Given the description of an element on the screen output the (x, y) to click on. 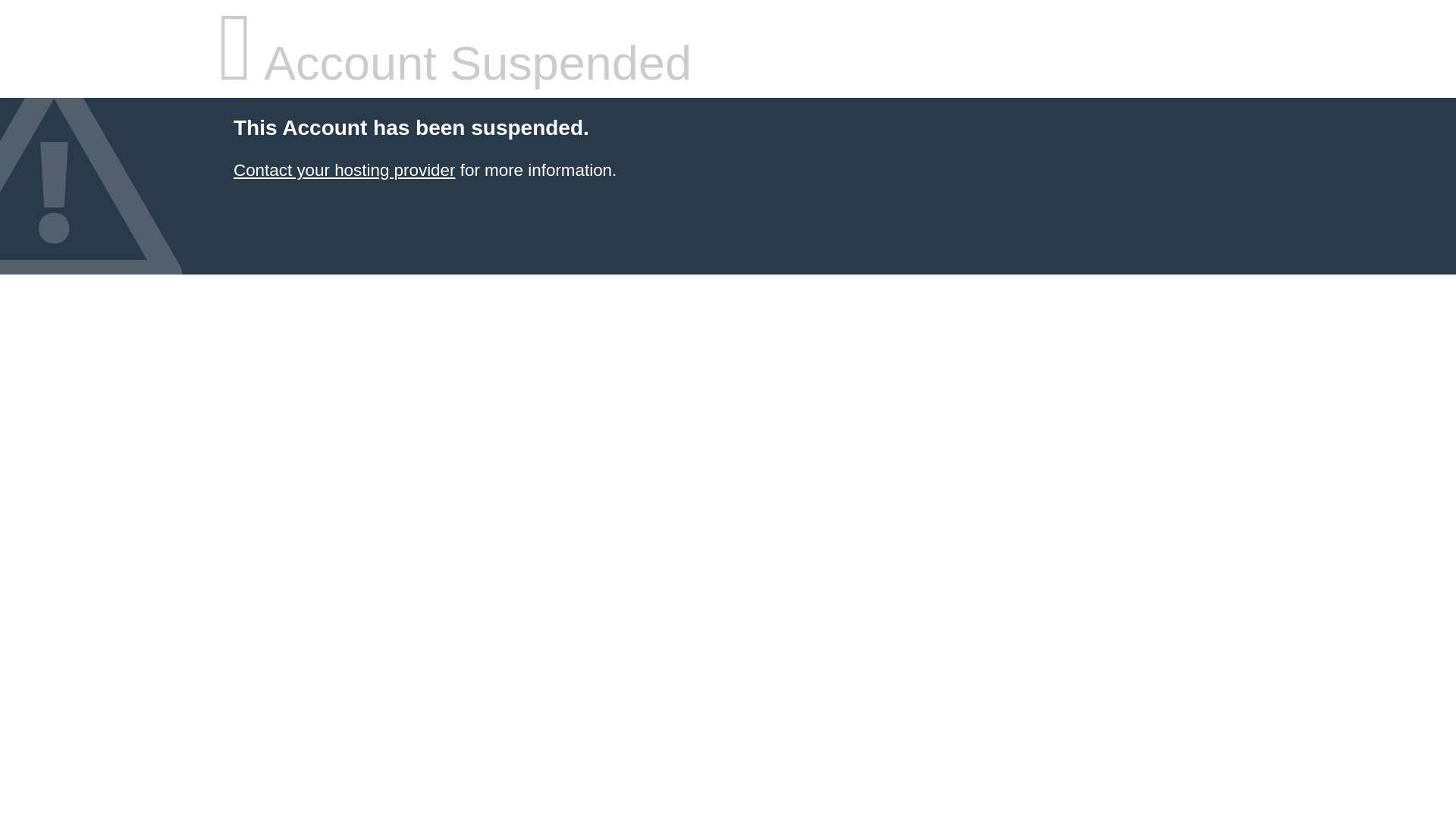
Contact your hosting provider (343, 169)
